Given the description of an element on the screen output the (x, y) to click on. 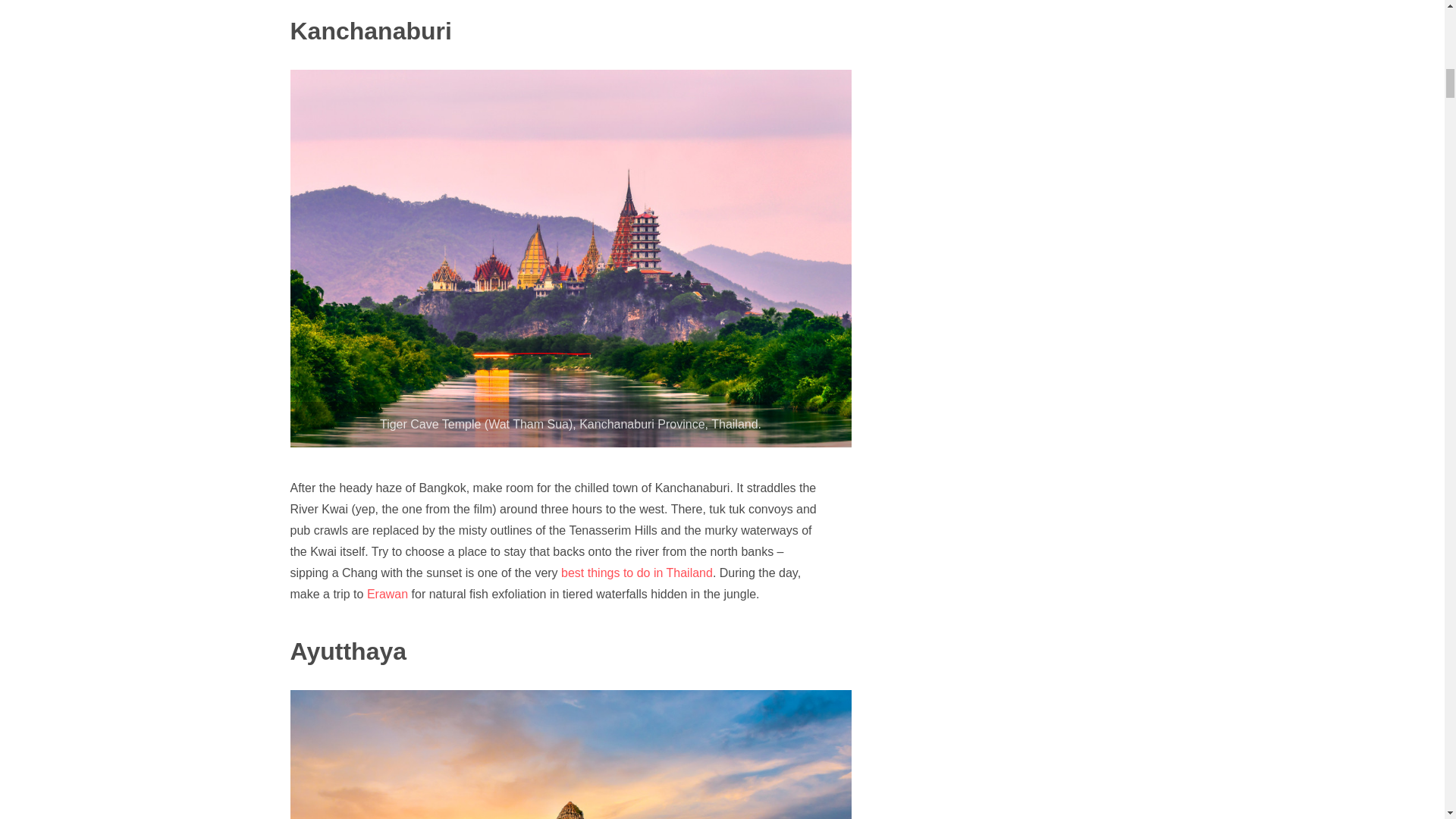
best things to do in Thailand (636, 572)
Ayutthaya (347, 651)
Kanchanaburi (370, 31)
Erawan (384, 594)
